Given the description of an element on the screen output the (x, y) to click on. 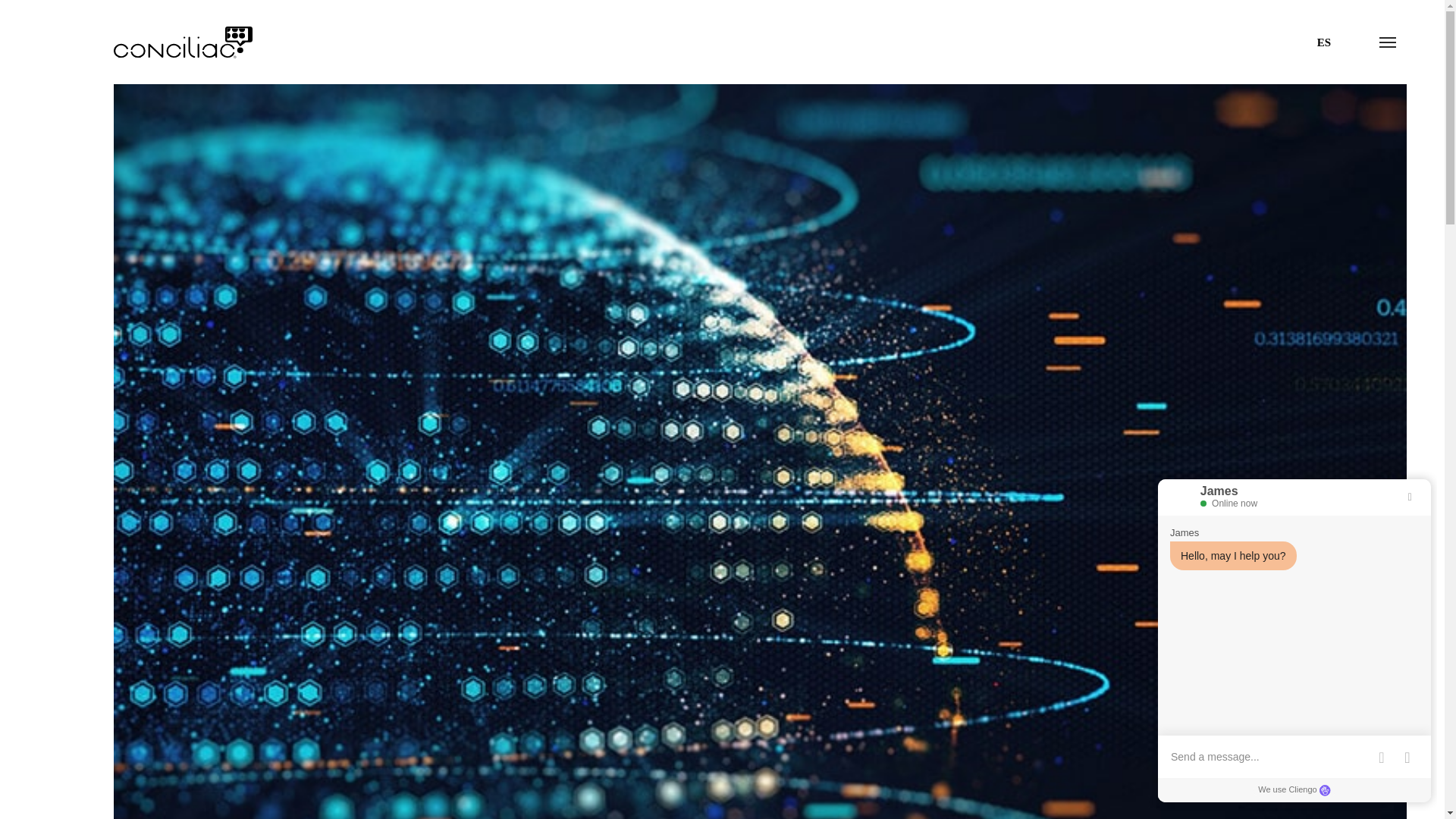
ES (1324, 42)
